Given the description of an element on the screen output the (x, y) to click on. 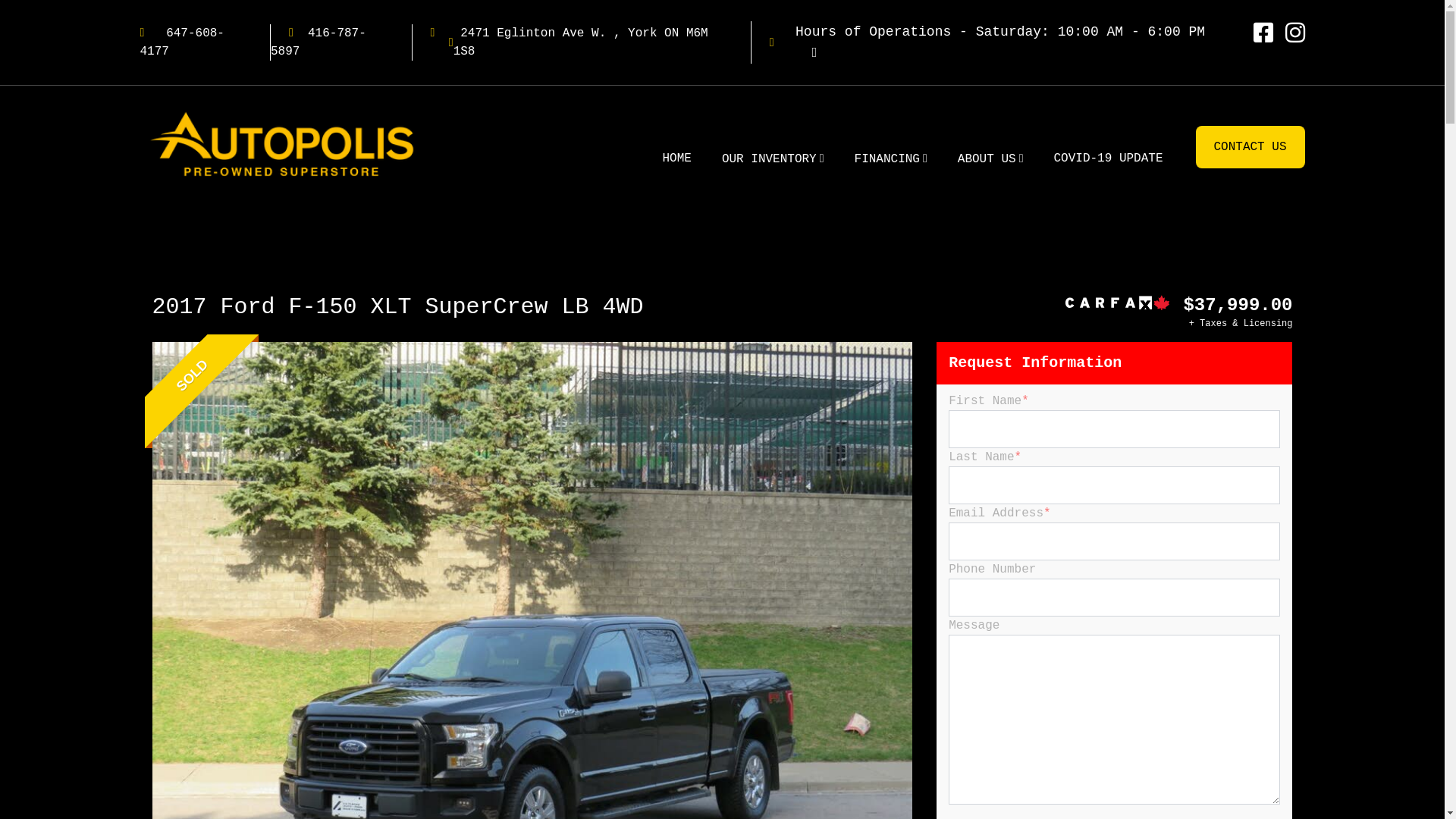
OUR INVENTORY Element type: text (772, 159)
CONTACT US Element type: text (1249, 146)
FINANCING Element type: text (890, 159)
COVID-19 UPDATE Element type: text (1107, 158)
HOME Element type: text (676, 158)
ABOUT US Element type: text (990, 159)
